Given the description of an element on the screen output the (x, y) to click on. 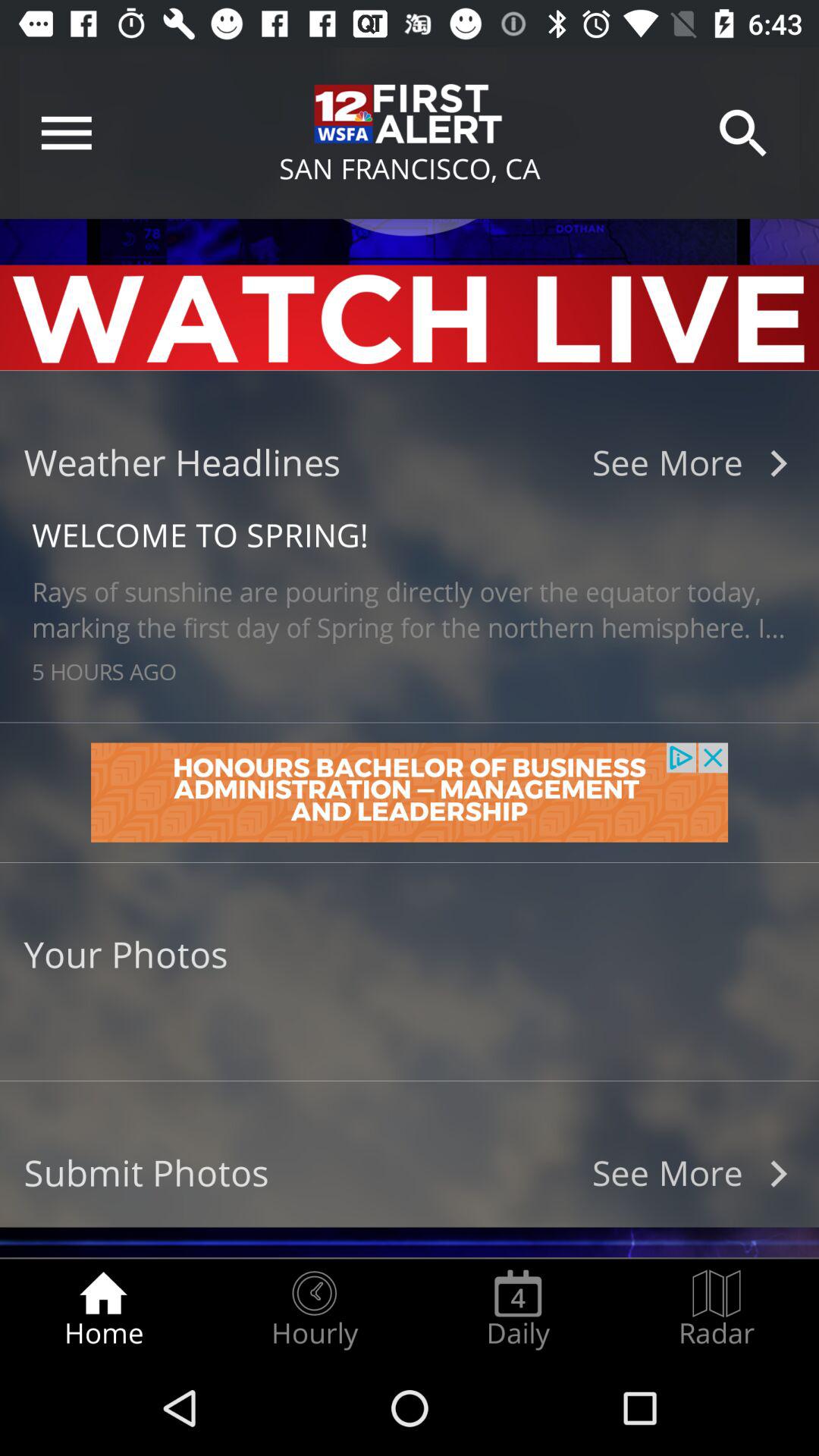
press the radio button next to hourly icon (103, 1309)
